Given the description of an element on the screen output the (x, y) to click on. 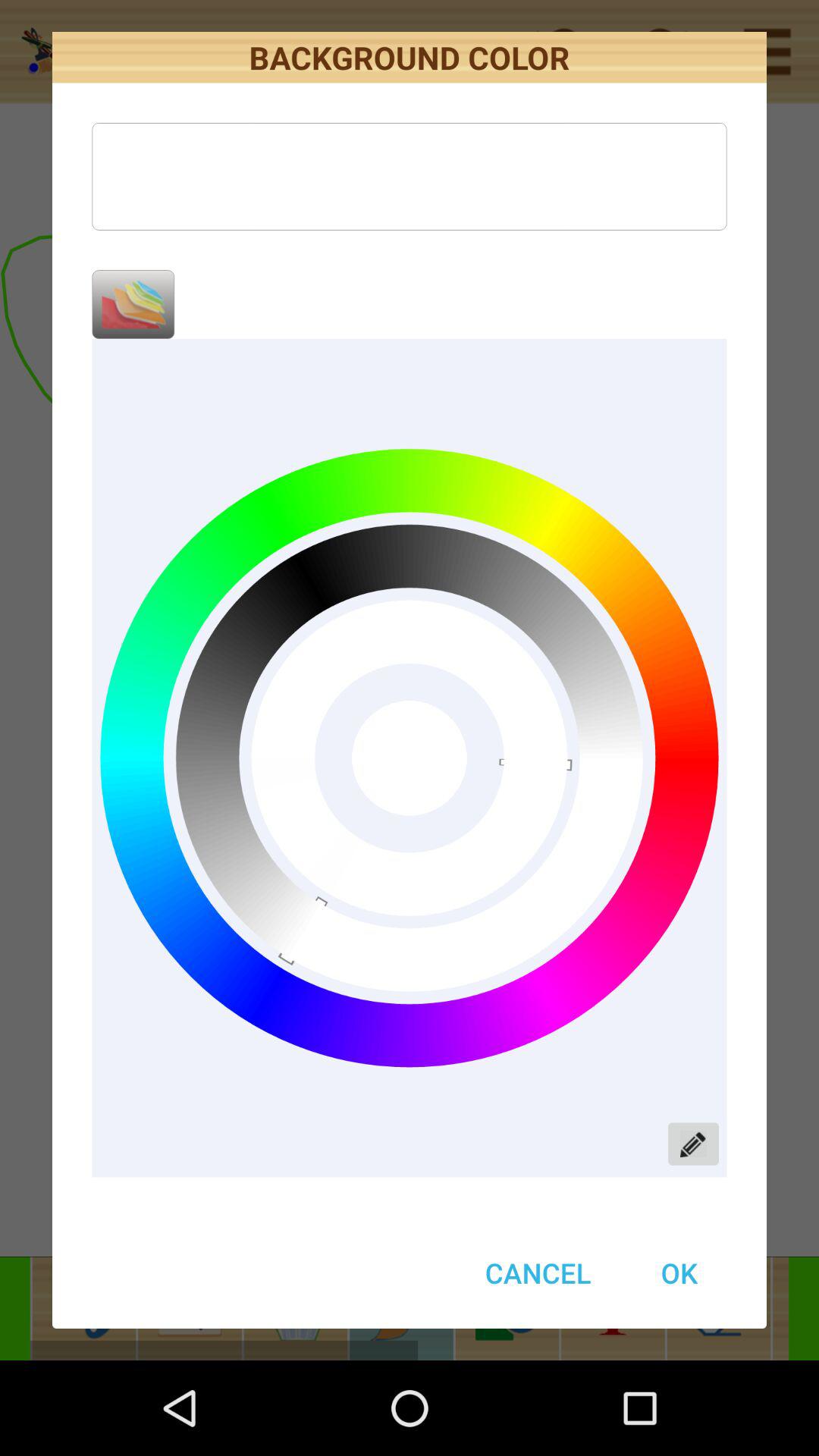
tap the item next to the cancel icon (678, 1272)
